Given the description of an element on the screen output the (x, y) to click on. 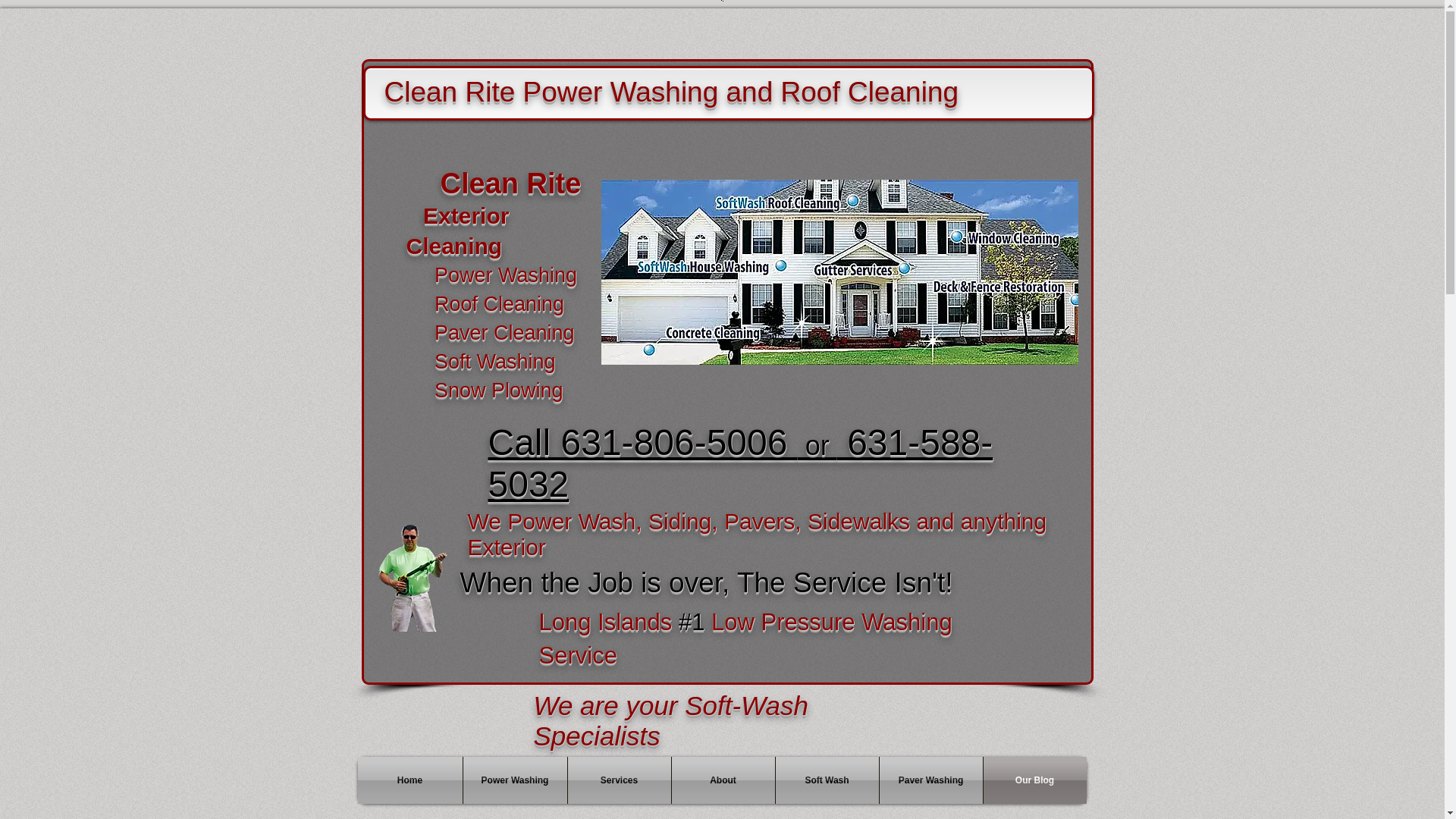
Our Blog (1034, 779)
About (722, 779)
Home (410, 779)
Paver Washing (930, 779)
Power Washing (514, 779)
Soft Wash (825, 779)
Call 631-806-5006  or  631-588-5032 (739, 463)
Services (618, 779)
